Given the description of an element on the screen output the (x, y) to click on. 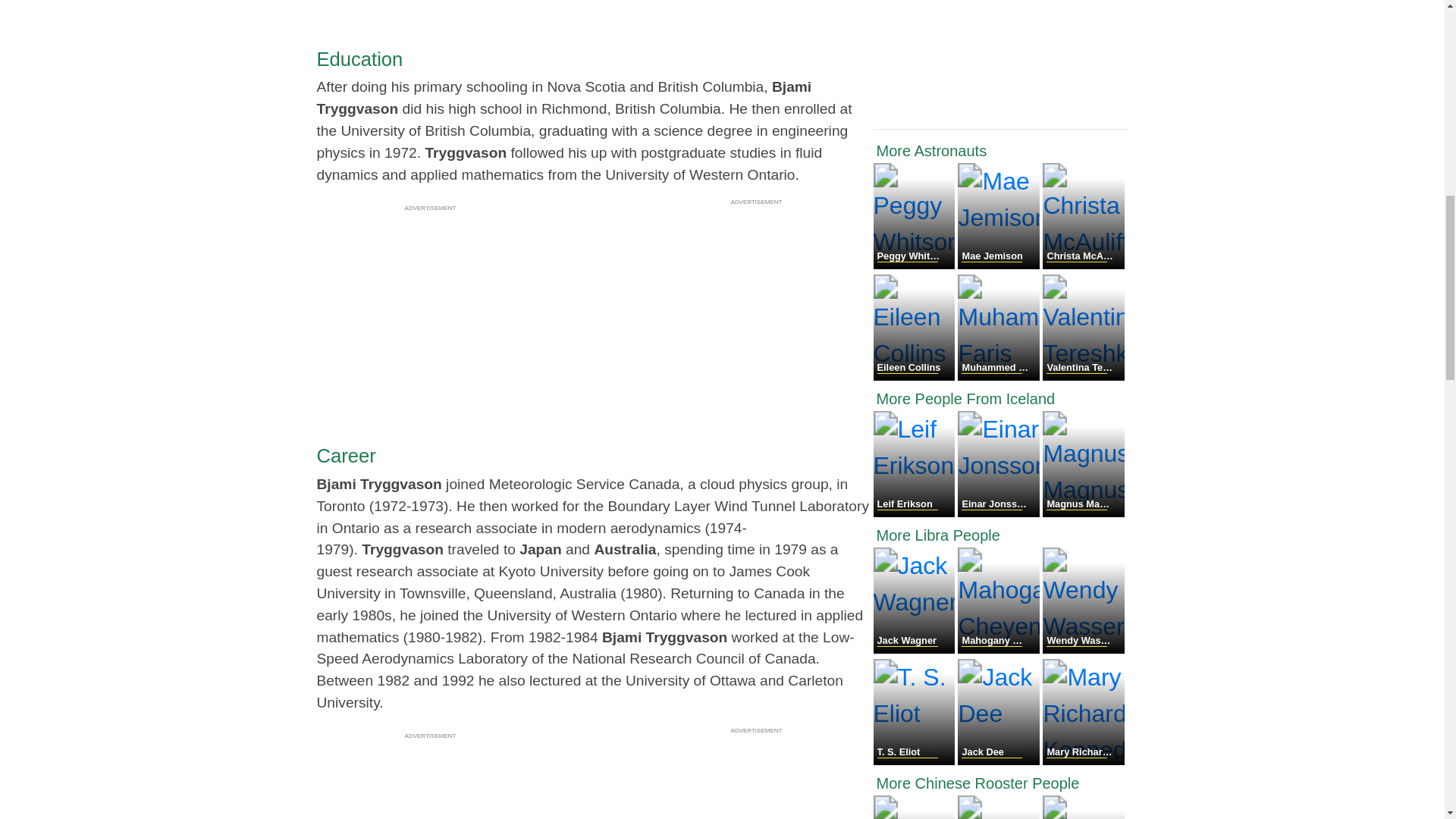
Jack Wagner (915, 649)
Mae Jemison (1000, 264)
Einar Jonsson (1000, 512)
Mary Richardson Kennedy (1083, 760)
Wendy Wasserstein (1083, 649)
Valentina Tereshkova (1083, 376)
Muhammed Faris (1000, 376)
Leif Erikson (915, 512)
Peggy Whitson (915, 264)
Mahogany Cheyenne Gordy (1000, 649)
Eileen Collins (915, 376)
Magnus Magnusson (1083, 512)
Christa McAuliffe (1083, 264)
Jack Dee (1000, 760)
More People From Iceland (1000, 398)
